Given the description of an element on the screen output the (x, y) to click on. 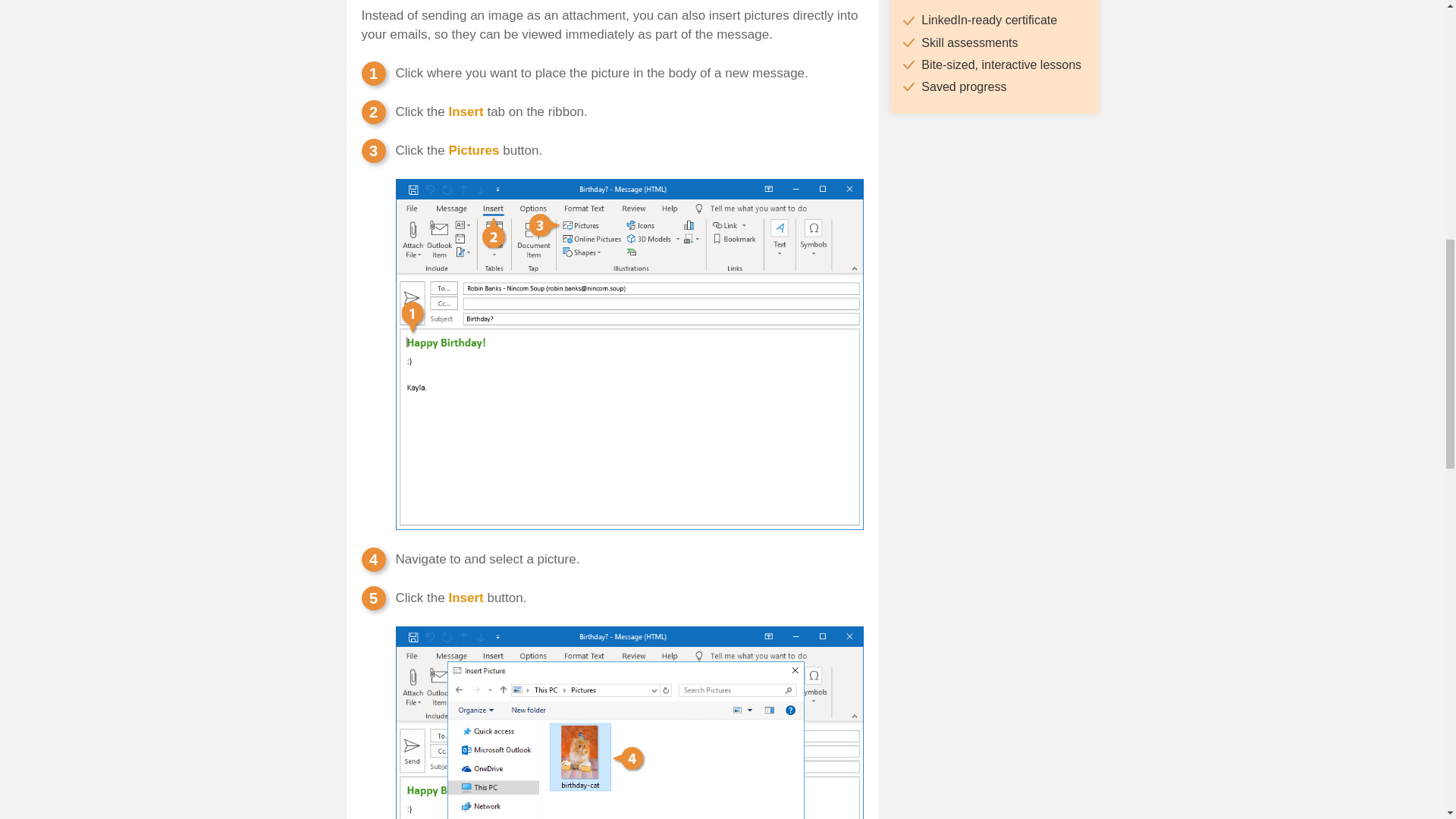
Insert a Picture (432, 4)
